Given the description of an element on the screen output the (x, y) to click on. 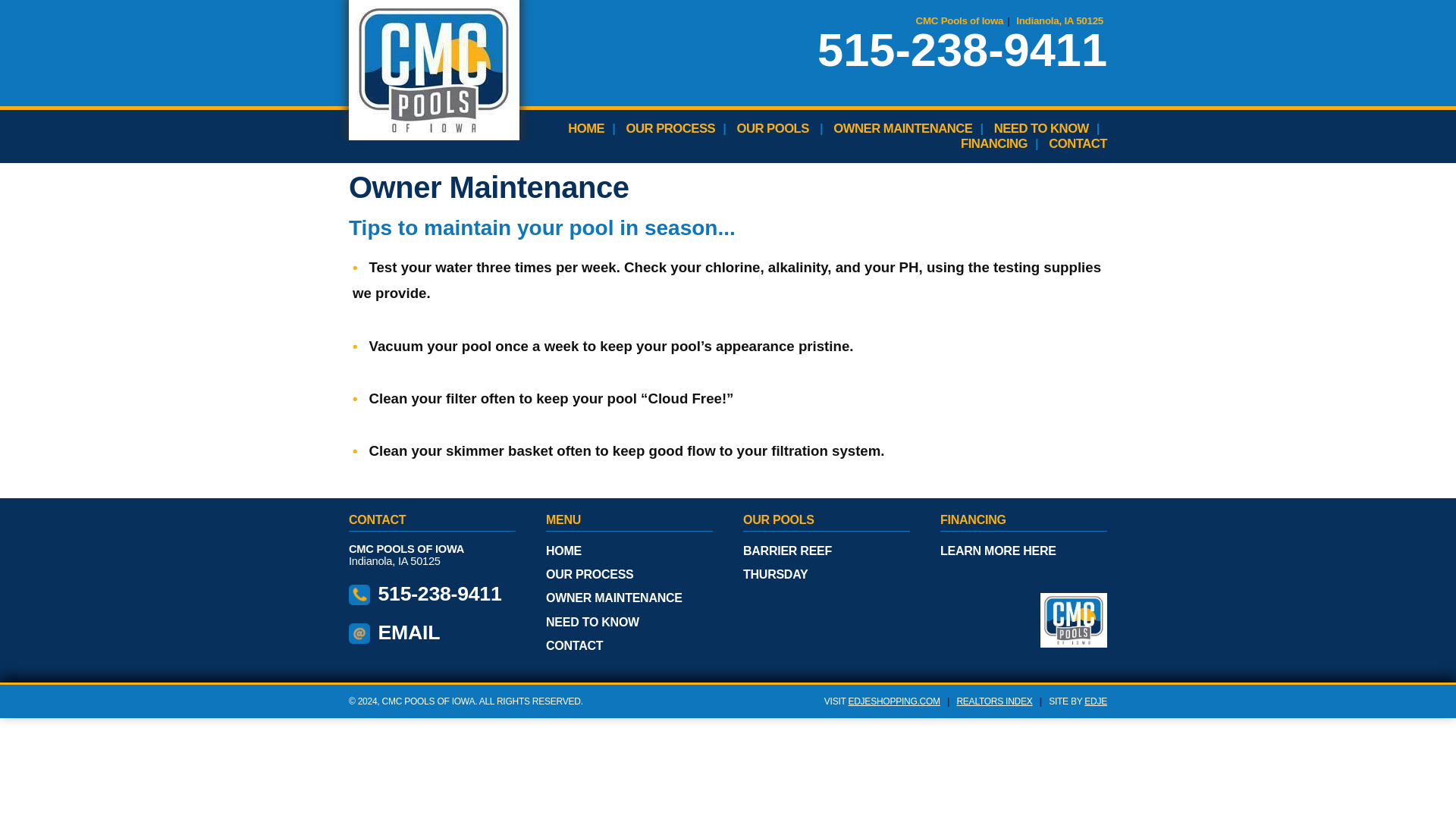
LEARN MORE HERE (998, 550)
OUR POOLS (772, 128)
NEED TO KNOW (1041, 128)
BARRIER REEF (786, 550)
515-238-9411 (961, 49)
FINANCING (993, 143)
HOME (585, 128)
OWNER MAINTENANCE (902, 128)
HOME (563, 550)
CONTACT (1077, 143)
OUR PROCESS (671, 128)
